Given the description of an element on the screen output the (x, y) to click on. 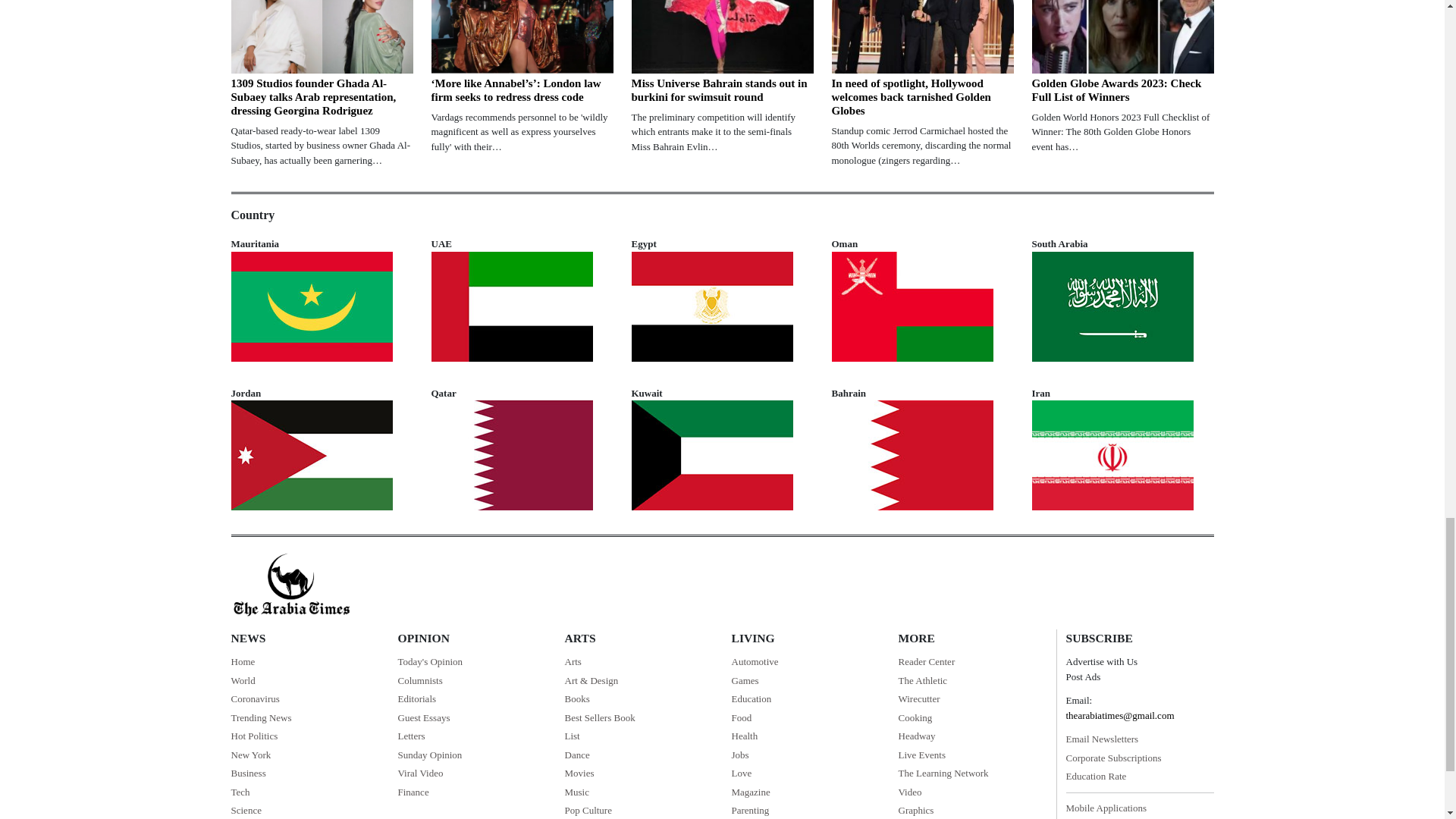
Golden Globe Awards 2023: Check Full List of Winners (1121, 36)
